Given the description of an element on the screen output the (x, y) to click on. 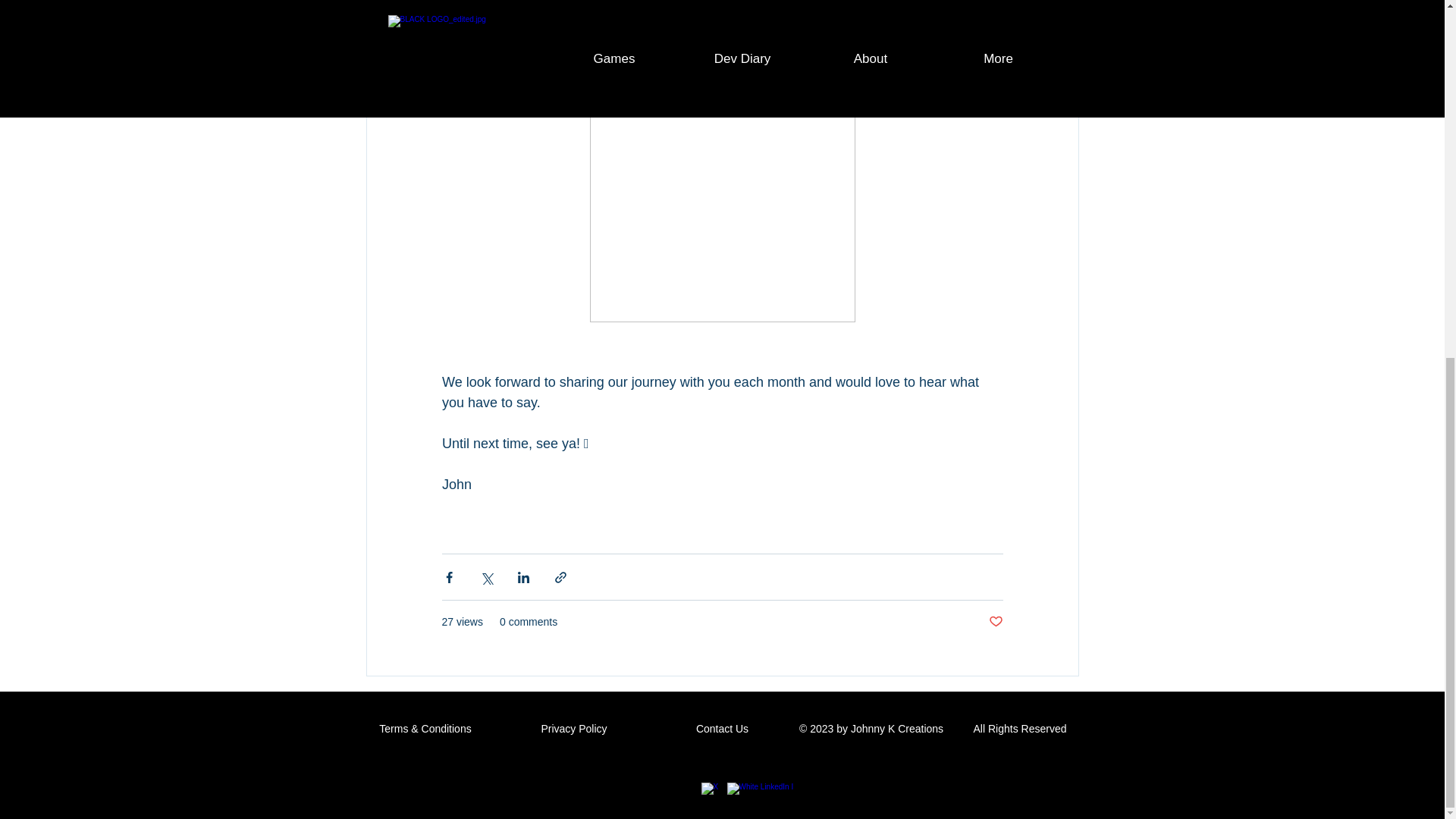
Privacy Policy (573, 728)
Post not marked as liked (995, 621)
Contact Us (721, 728)
